Given the description of an element on the screen output the (x, y) to click on. 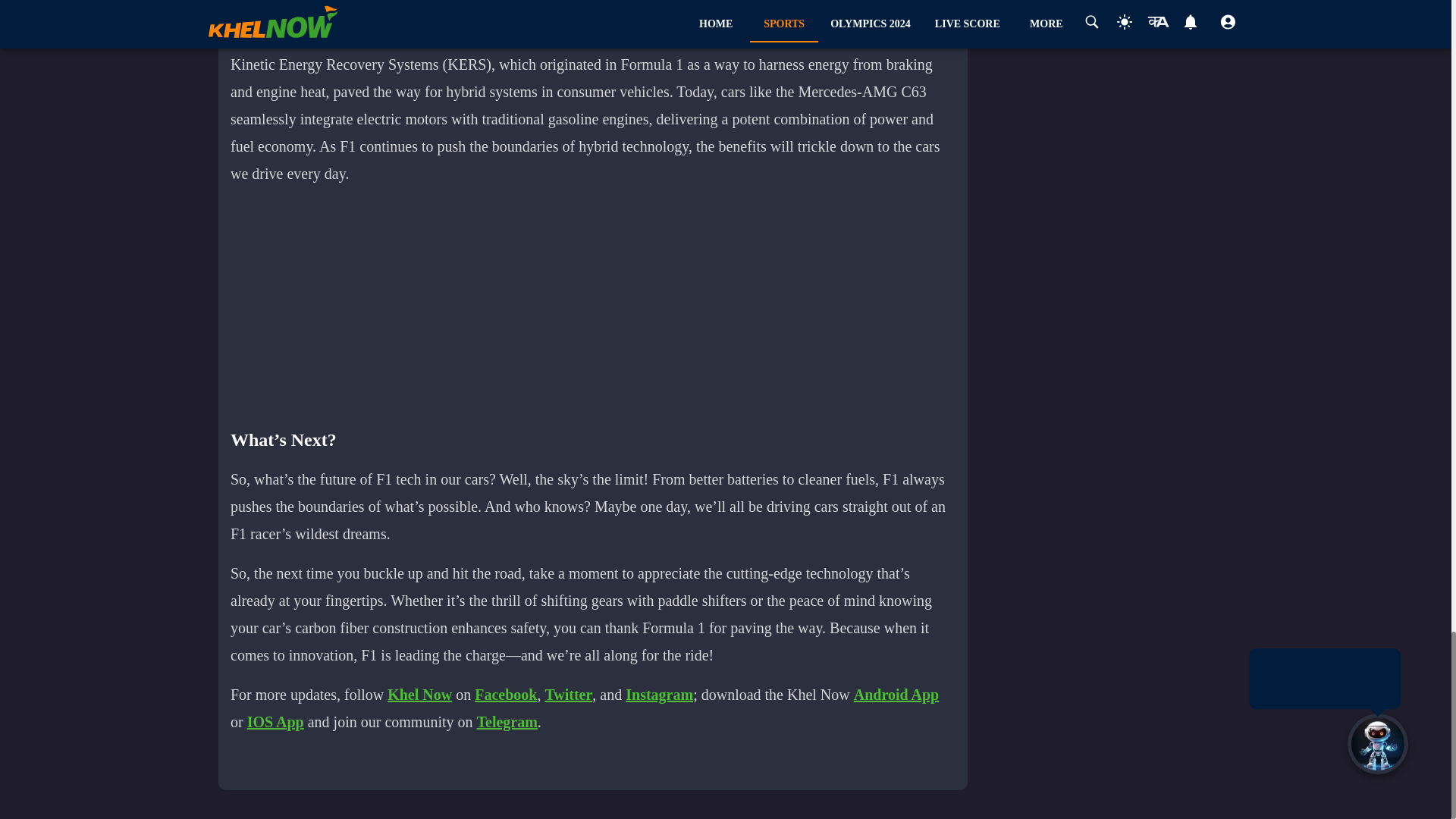
myFrame (600, 305)
Telegram (506, 721)
Android App (896, 694)
Instagram (659, 694)
Facebook (505, 694)
Twitter (568, 694)
Khel Now (419, 694)
IOS App (275, 721)
